Given the description of an element on the screen output the (x, y) to click on. 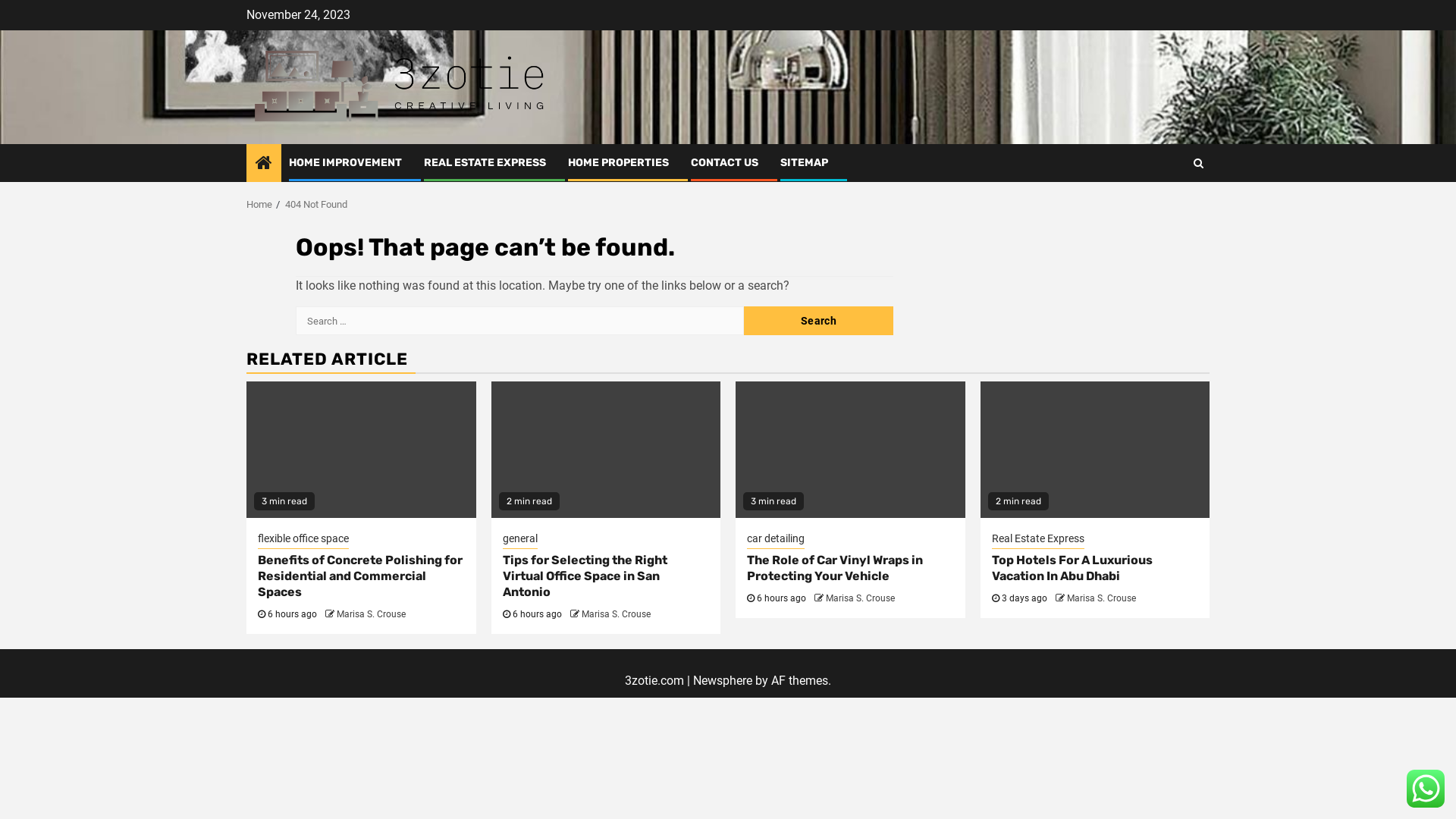
Newsphere Element type: text (722, 680)
404 Not Found Element type: text (316, 204)
SITEMAP Element type: text (804, 162)
Marisa S. Crouse Element type: text (859, 598)
Marisa S. Crouse Element type: text (370, 613)
REAL ESTATE EXPRESS Element type: text (484, 162)
HOME PROPERTIES Element type: text (617, 162)
general Element type: text (519, 539)
Home Element type: text (259, 204)
CONTACT US Element type: text (724, 162)
HOME IMPROVEMENT Element type: text (344, 162)
car detailing Element type: text (775, 539)
Marisa S. Crouse Element type: text (614, 613)
Real Estate Express Element type: text (1037, 539)
Top Hotels For A Luxurious Vacation In Abu Dhabi Element type: text (1071, 567)
The Role of Car Vinyl Wraps in Protecting Your Vehicle Element type: text (834, 567)
Search Element type: text (1169, 208)
flexible office space Element type: text (302, 539)
Search Element type: text (818, 320)
Search Element type: hover (1198, 162)
Marisa S. Crouse Element type: text (1100, 598)
